Given the description of an element on the screen output the (x, y) to click on. 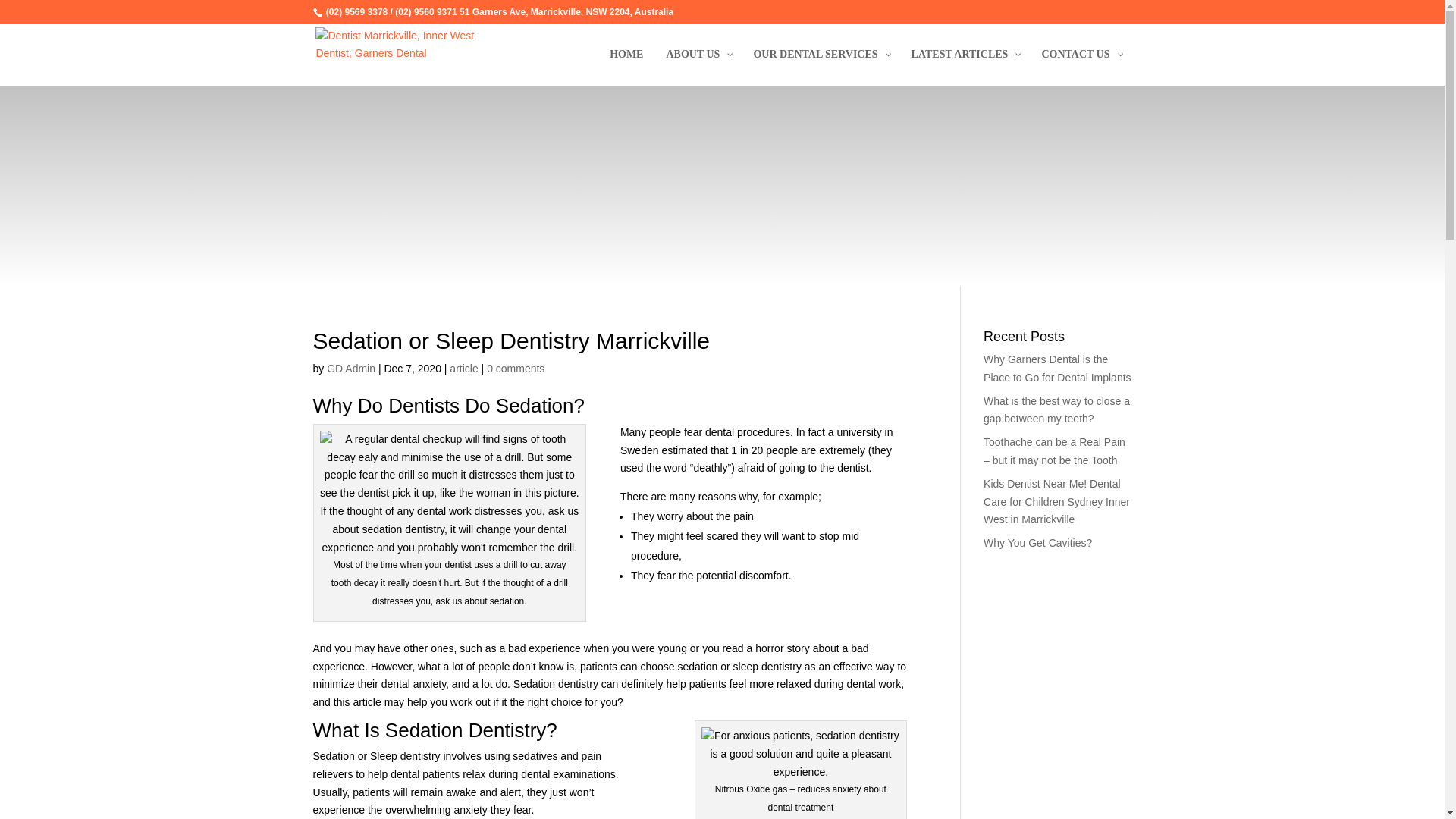
OUR DENTAL SERVICES Element type: text (820, 66)
What is the best way to close a gap between my teeth? Element type: text (1056, 410)
CONTACT US Element type: text (1080, 66)
Why Garners Dental is the Place to Go for Dental Implants Element type: text (1057, 368)
LATEST ARTICLES Element type: text (965, 66)
article Element type: text (463, 368)
Why You Get Cavities? Element type: text (1037, 542)
GD Admin Element type: text (350, 368)
HOME Element type: text (626, 66)
0 comments Element type: text (515, 368)
ABOUT US Element type: text (697, 66)
